Given the description of an element on the screen output the (x, y) to click on. 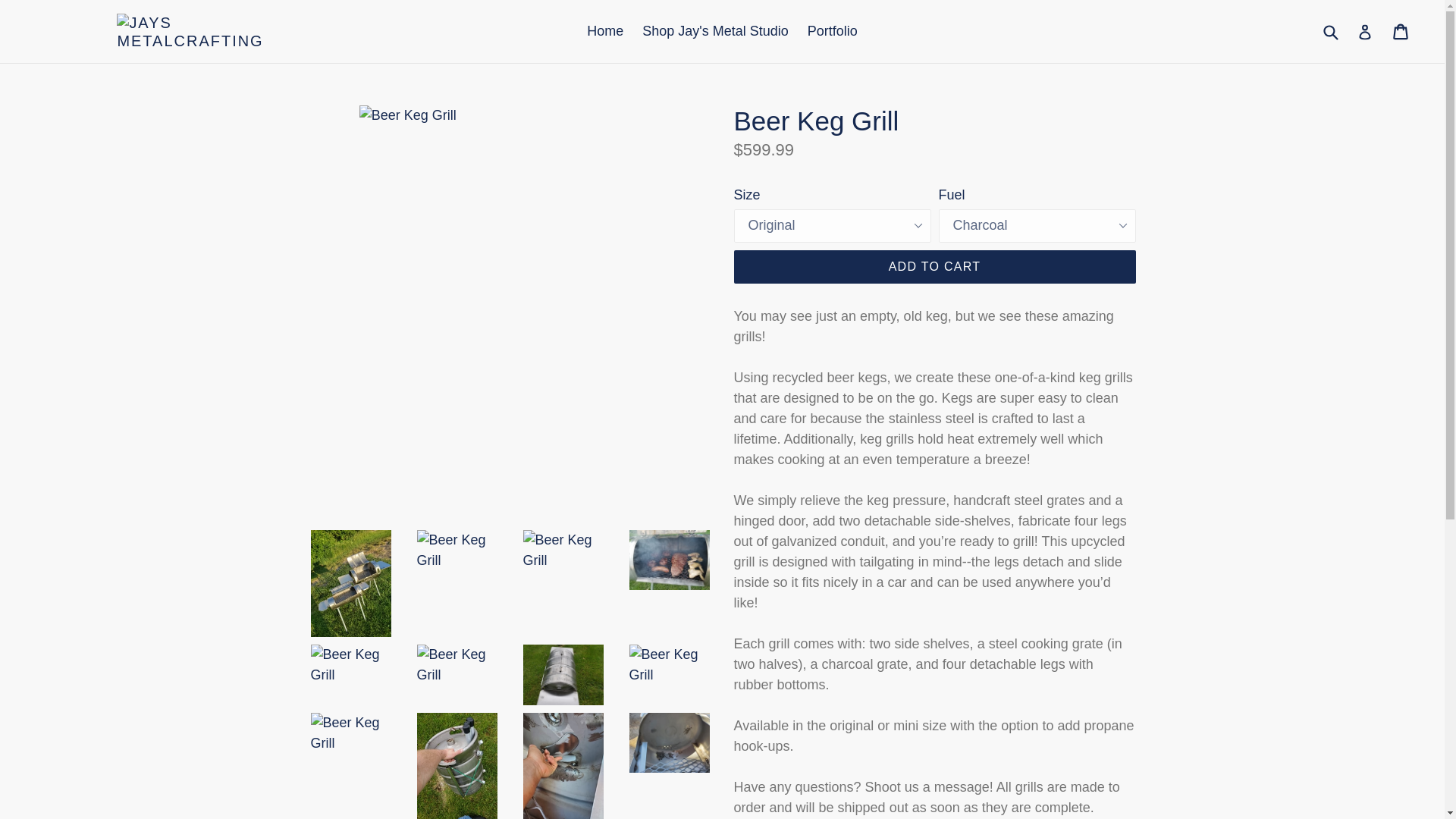
Shop Jay's Metal Studio (715, 31)
ADD TO CART (934, 266)
Home (604, 31)
Portfolio (831, 31)
